Given the description of an element on the screen output the (x, y) to click on. 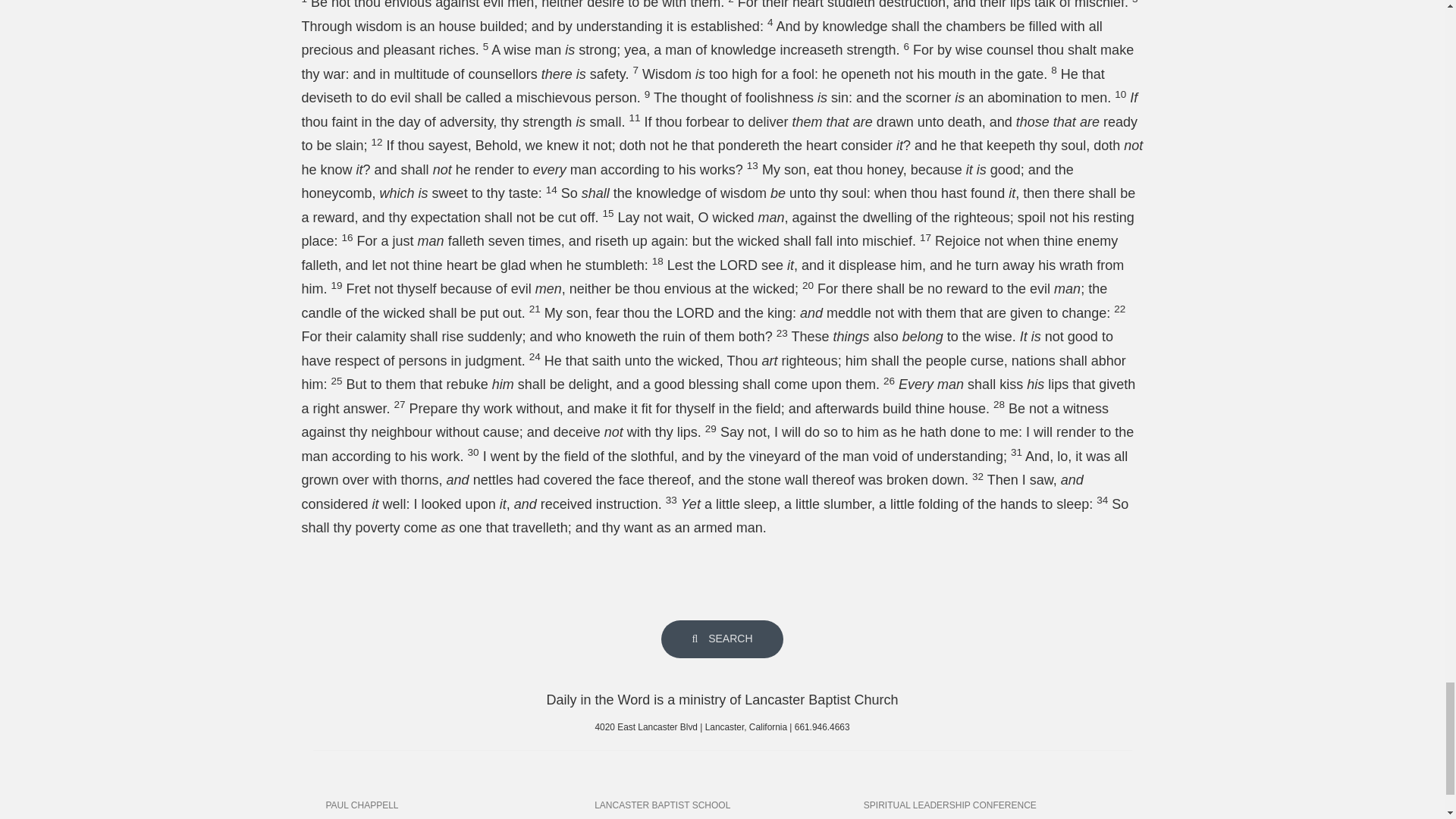
PAUL CHAPPELL (453, 805)
SPIRITUAL LEADERSHIP CONFERENCE (991, 805)
LANCASTER BAPTIST SCHOOL (721, 805)
SEARCH (722, 638)
